Given the description of an element on the screen output the (x, y) to click on. 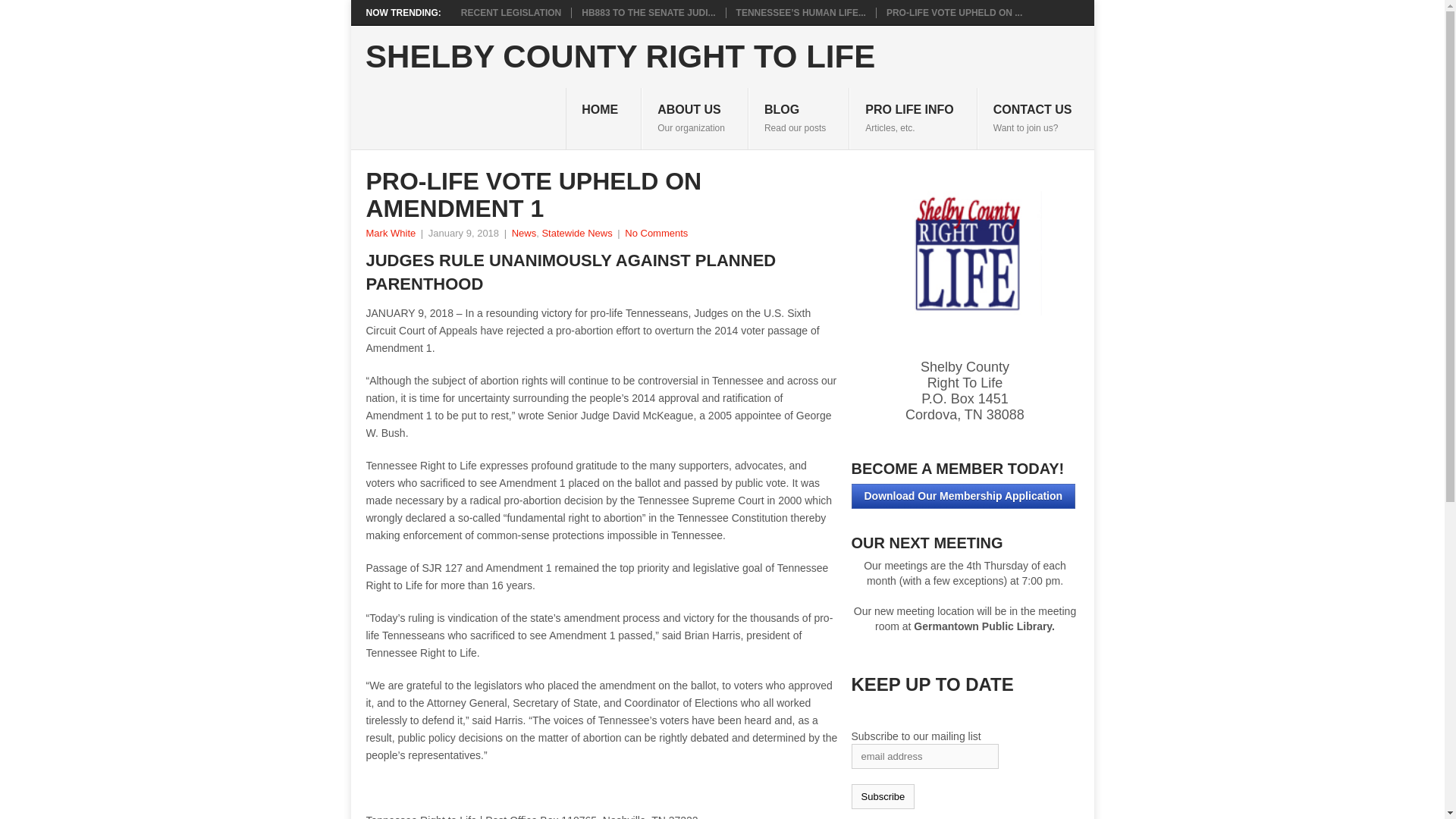
No Comments (655, 233)
Download Our Membership Application (962, 496)
Mark White (695, 118)
Posts by Mark White (389, 233)
HB883 TO THE SENATE JUDI... (389, 233)
PRO-LIFE VOTE UPHELD ON ... (647, 12)
SHELBY COUNTY RIGHT TO LIFE (954, 12)
News (620, 56)
Pro-Life Vote Upheld on Amendment 1 (524, 233)
Subscribe (954, 12)
RECENT LEGISLATION (882, 796)
HB883 to the Senate Judiciary Committee as Senate Bill 745 (510, 12)
Recent Legislation (647, 12)
